Given the description of an element on the screen output the (x, y) to click on. 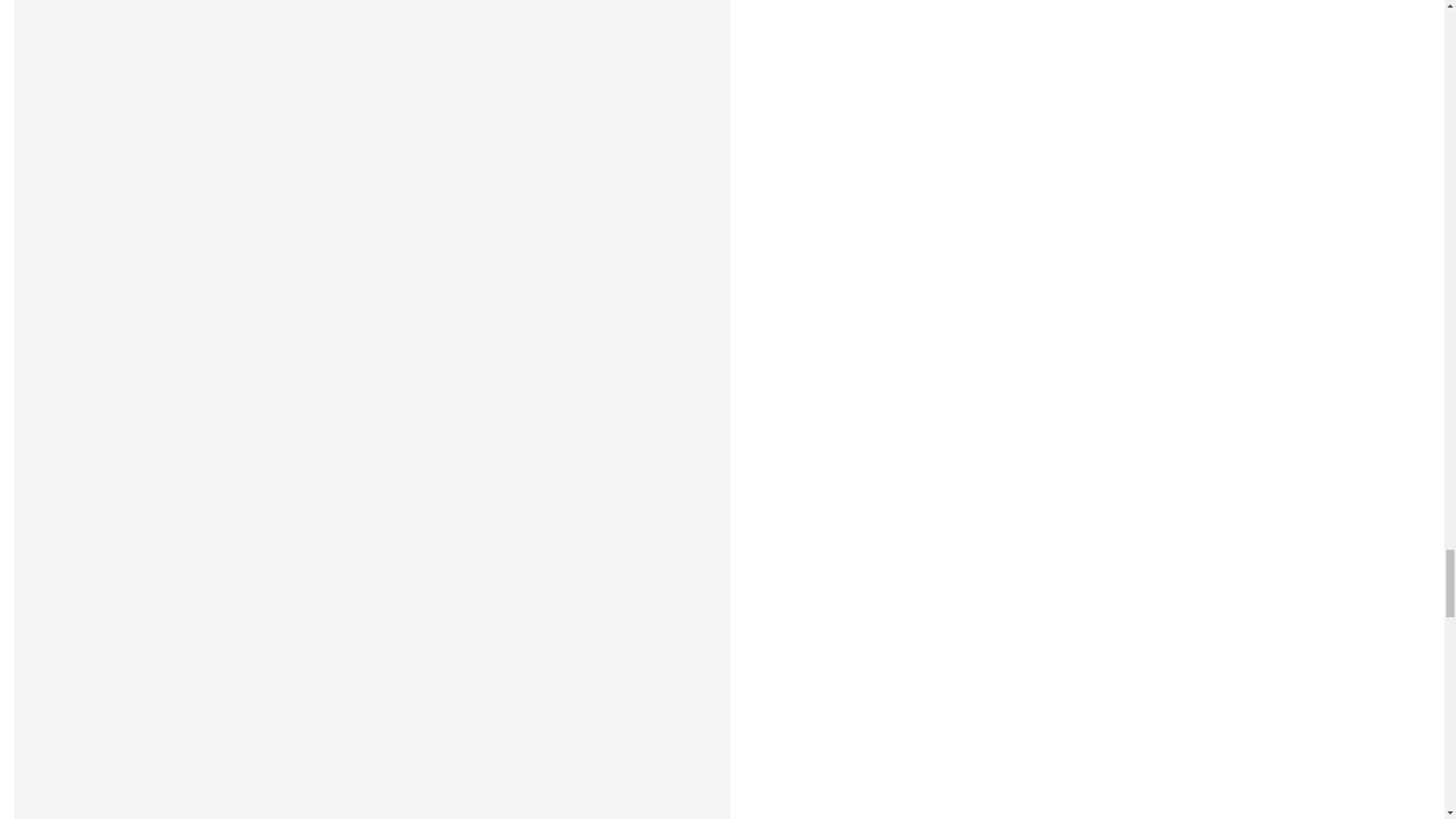
Iran: A War Is Coming (371, 758)
